Given the description of an element on the screen output the (x, y) to click on. 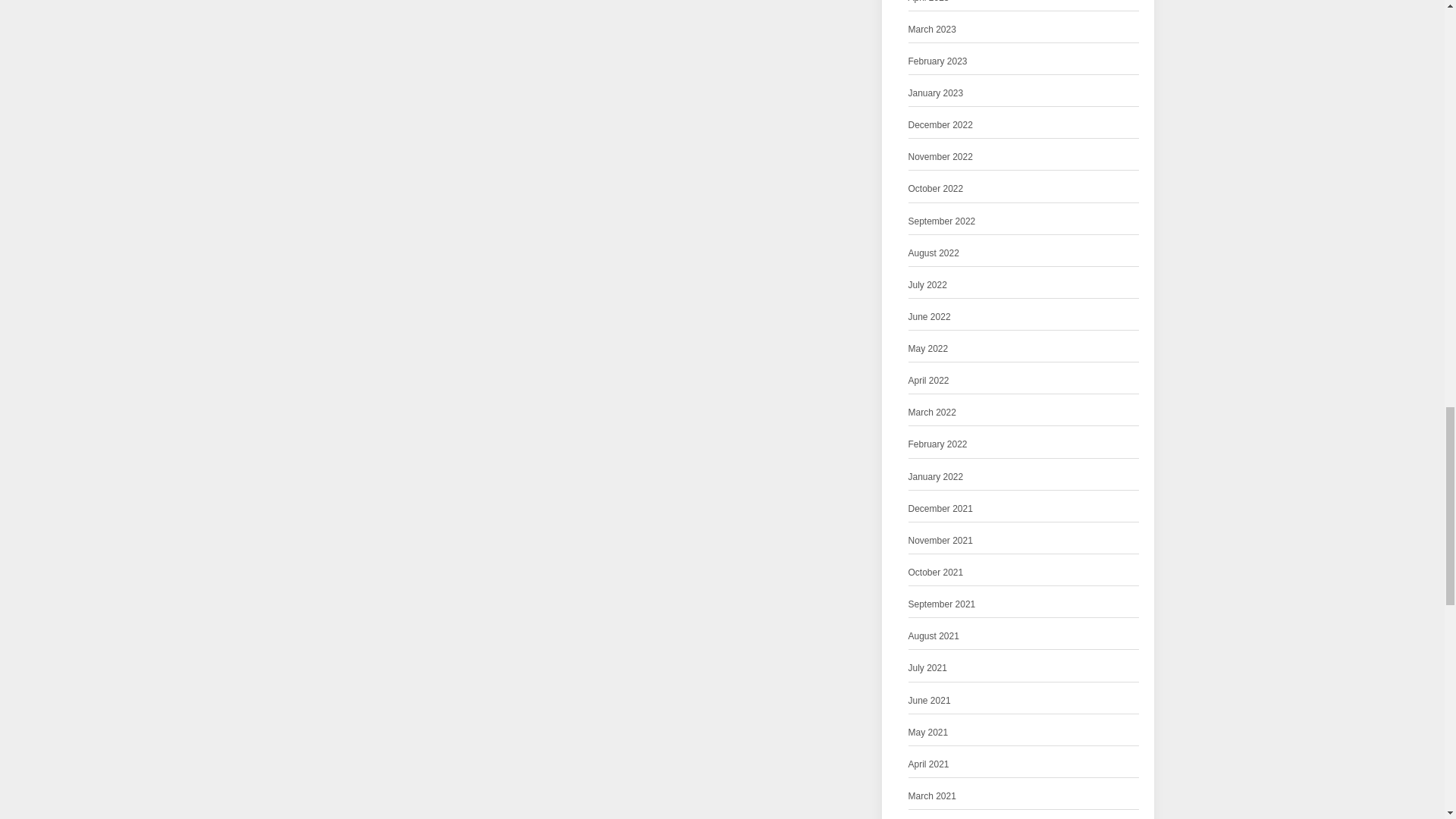
February 2023 (938, 61)
April 2023 (928, 2)
March 2023 (932, 29)
